Given the description of an element on the screen output the (x, y) to click on. 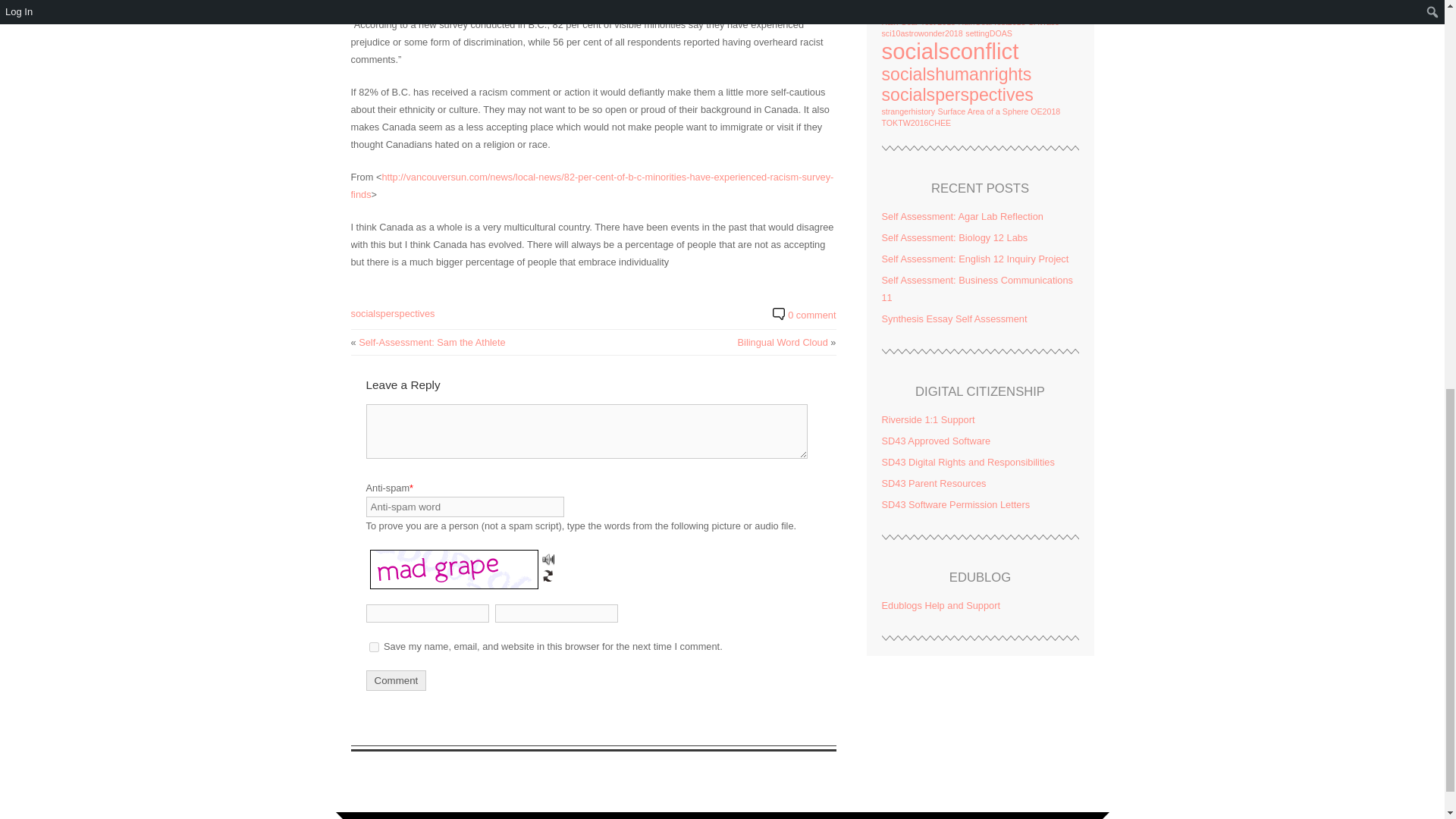
Student Rights and Responsibilities (967, 461)
Bilingual Word Cloud (783, 342)
Comment (585, 431)
0 comment (811, 315)
Self-Assessment: Sam the Athlete (431, 342)
yes (373, 646)
District Approved Software and Permission Letters (935, 440)
socialsperspectives (391, 313)
Comment (395, 680)
